Given the description of an element on the screen output the (x, y) to click on. 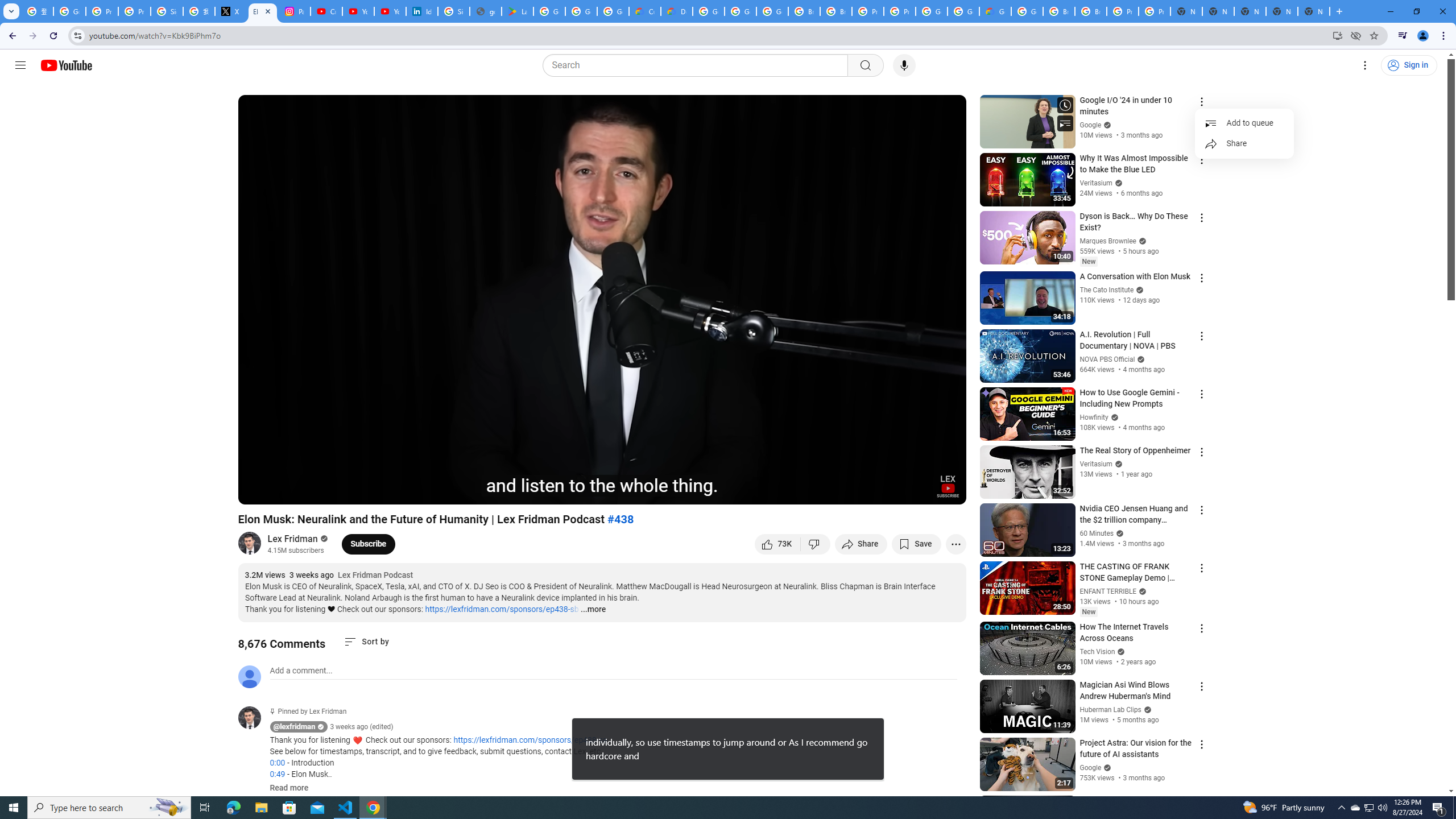
google_privacy_policy_en.pdf (485, 11)
like this video along with 73,133 other people (777, 543)
https://lexfridman.com/sponsors/ep438-sb (502, 609)
Dislike this video (815, 543)
Share (861, 543)
Google Workspace - Specific Terms (581, 11)
Google Cloud Platform (963, 11)
